Given the description of an element on the screen output the (x, y) to click on. 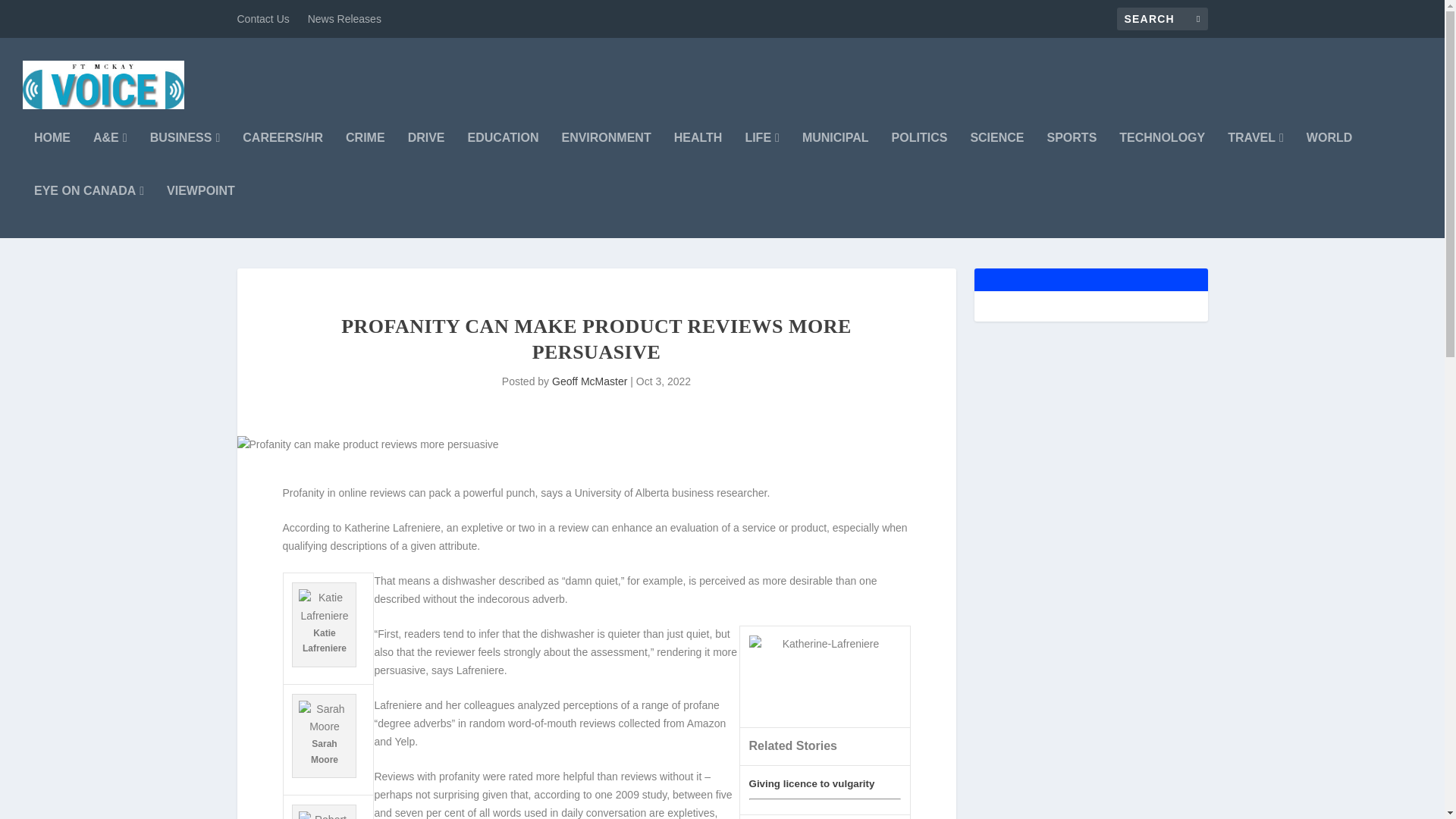
MUNICIPAL (835, 158)
BUSINESS (185, 158)
Search for: (1161, 18)
EYE ON CANADA (88, 211)
EDUCATION (502, 158)
SPORTS (1071, 158)
POLITICS (919, 158)
Posts by Geoff McMaster (589, 381)
News Releases (344, 18)
ENVIRONMENT (605, 158)
